Given the description of an element on the screen output the (x, y) to click on. 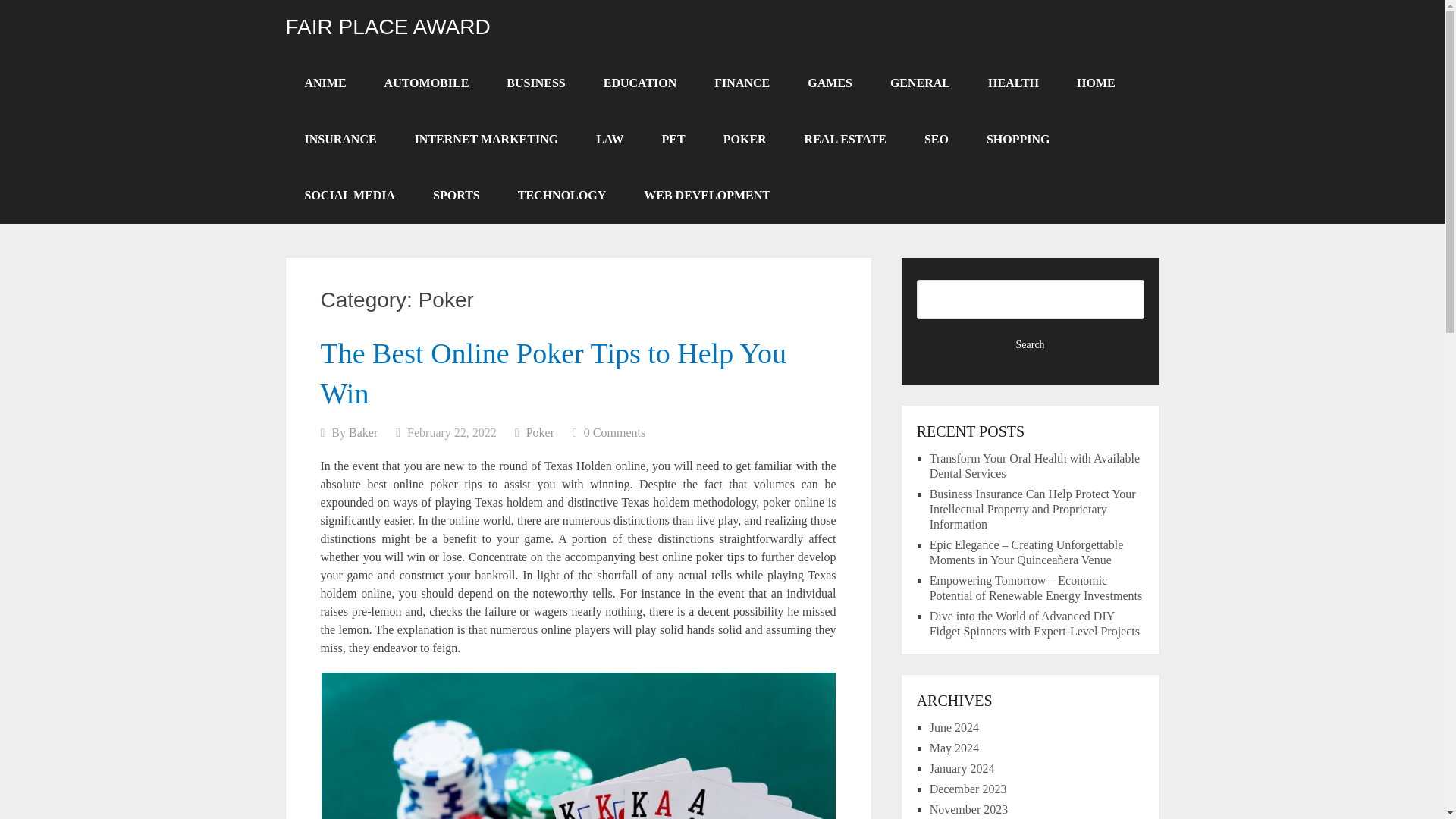
HEALTH (1013, 83)
May 2024 (954, 748)
SHOPPING (1018, 139)
The Best Online Poker Tips to Help You Win (553, 373)
EDUCATION (640, 83)
December 2023 (968, 788)
Transform Your Oral Health with Available Dental Services (1035, 465)
POKER (745, 139)
FAIR PLACE AWARD (387, 26)
January 2024 (962, 768)
